Given the description of an element on the screen output the (x, y) to click on. 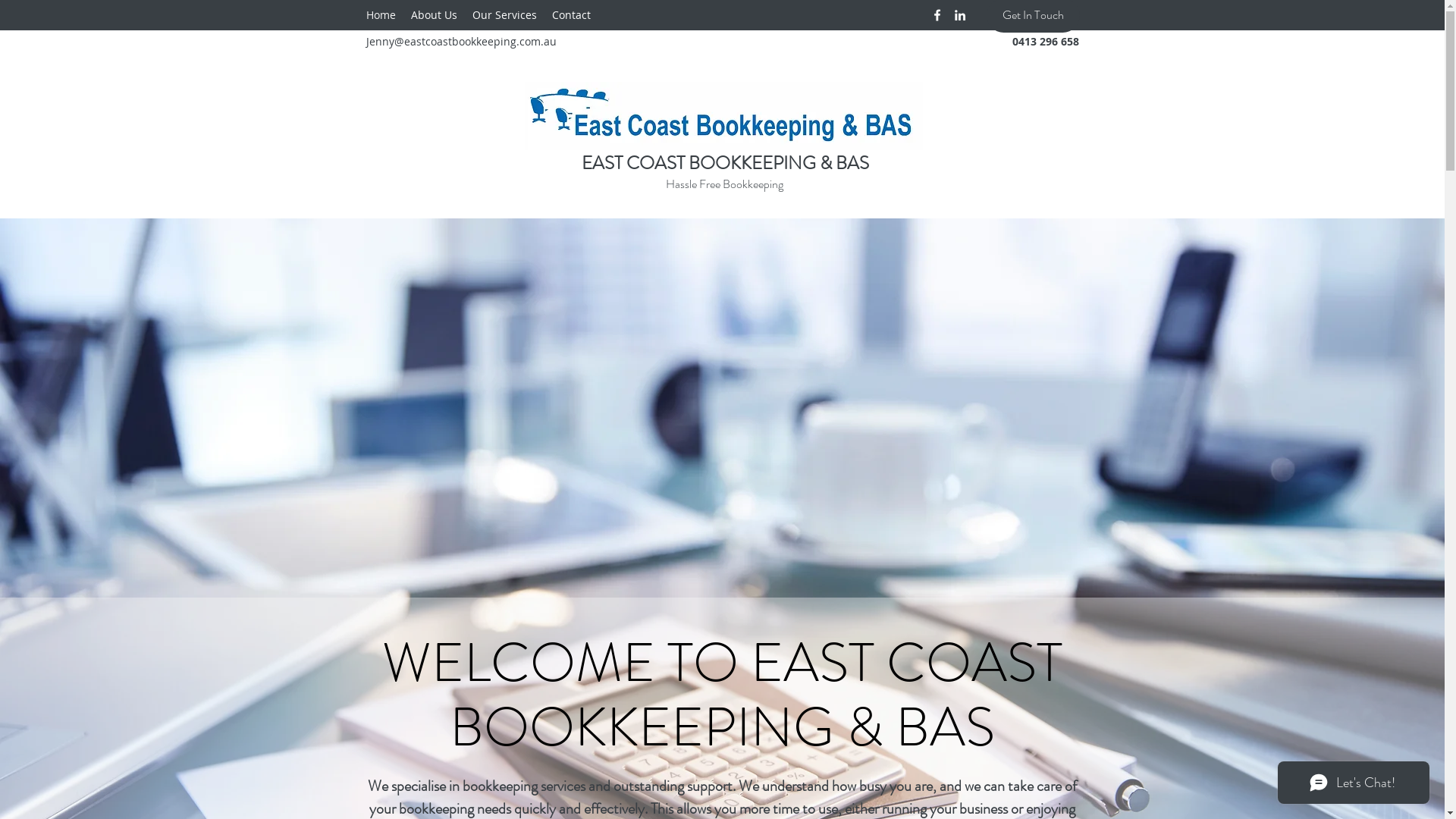
Contact Element type: text (571, 14)
Home Element type: text (379, 14)
Jenny@eastcoastbookkeeping.com.au Element type: text (460, 41)
Our Services Element type: text (503, 14)
About Us Element type: text (433, 14)
